Given the description of an element on the screen output the (x, y) to click on. 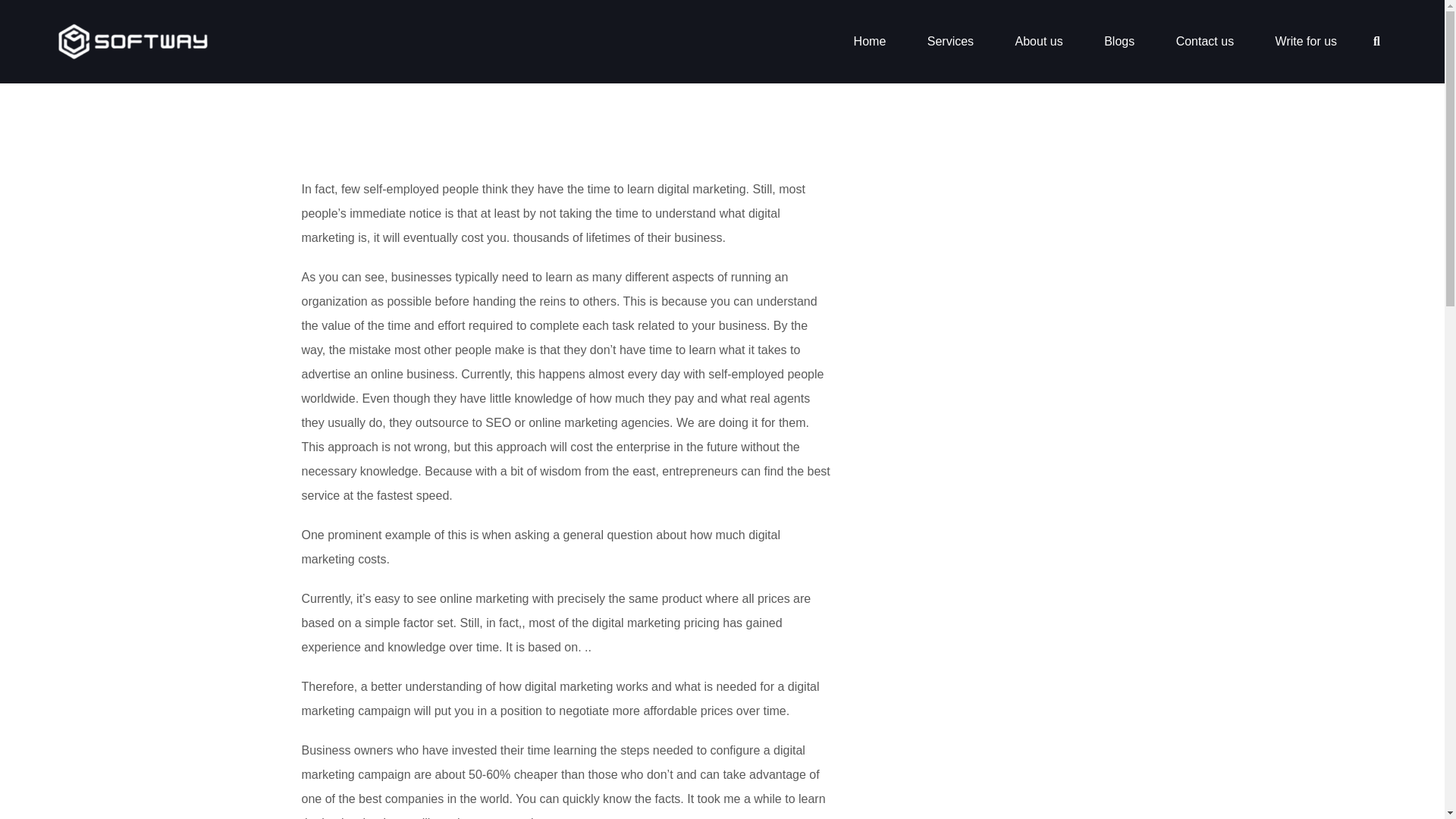
Contact us (1204, 41)
Blogs (1118, 41)
Home (869, 41)
Write for us (1306, 41)
About us (1038, 41)
Services (950, 41)
